Given the description of an element on the screen output the (x, y) to click on. 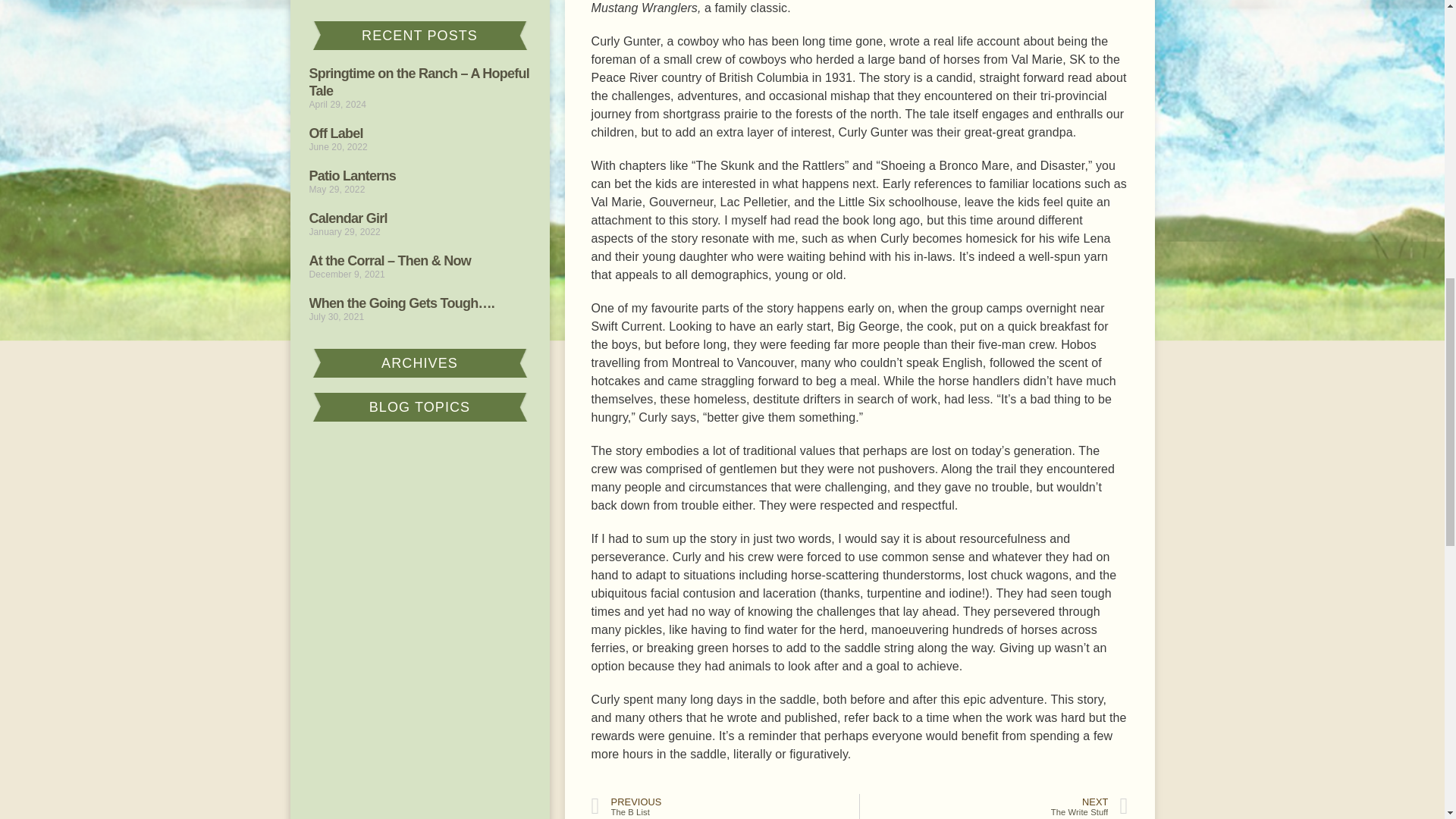
Patio Lanterns (352, 175)
Calendar Girl (347, 218)
Off Label (335, 133)
